Given the description of an element on the screen output the (x, y) to click on. 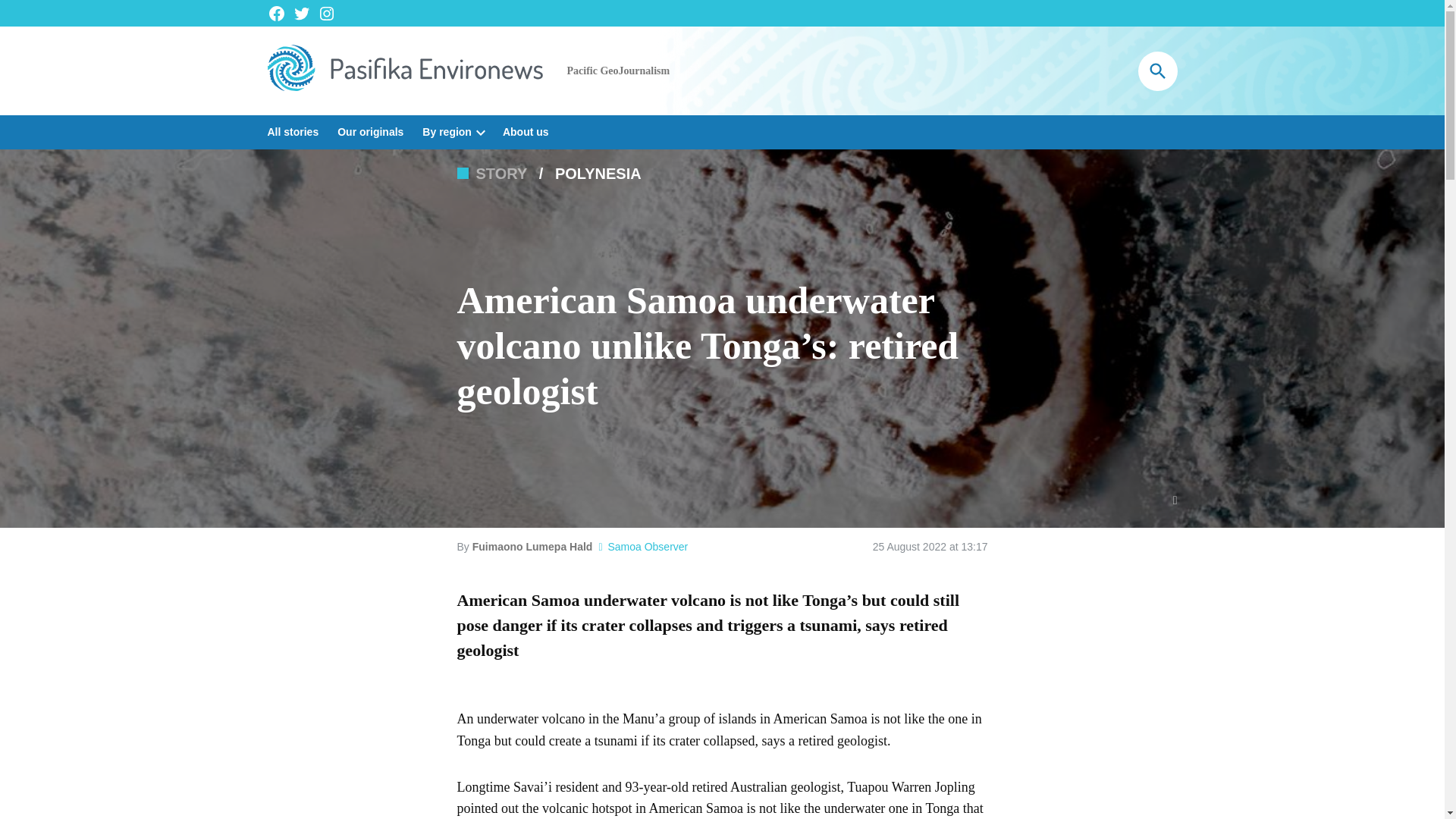
Twitter (301, 13)
Instagram (325, 13)
Facebook (275, 13)
